Given the description of an element on the screen output the (x, y) to click on. 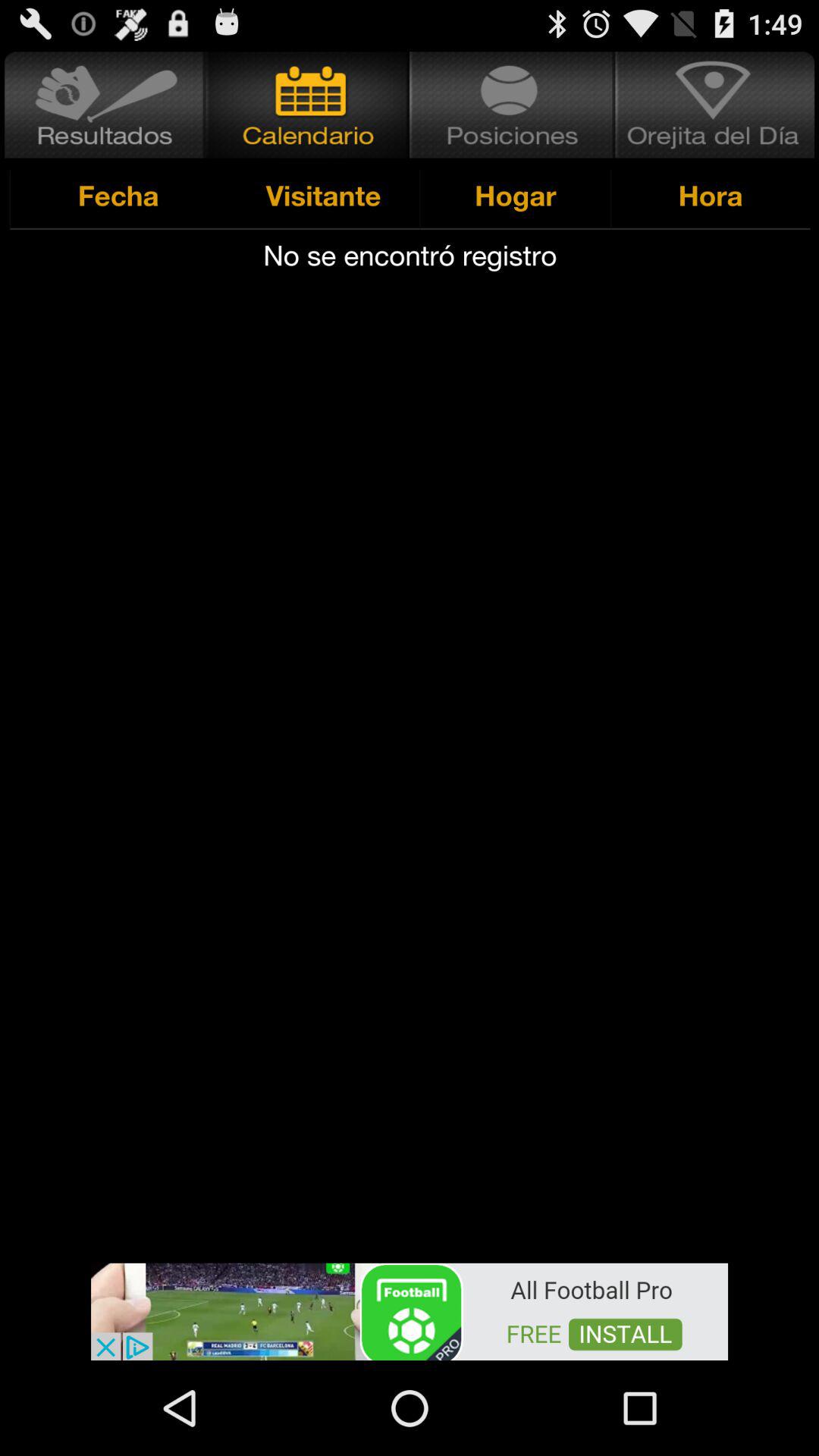
hogar (512, 104)
